Given the description of an element on the screen output the (x, y) to click on. 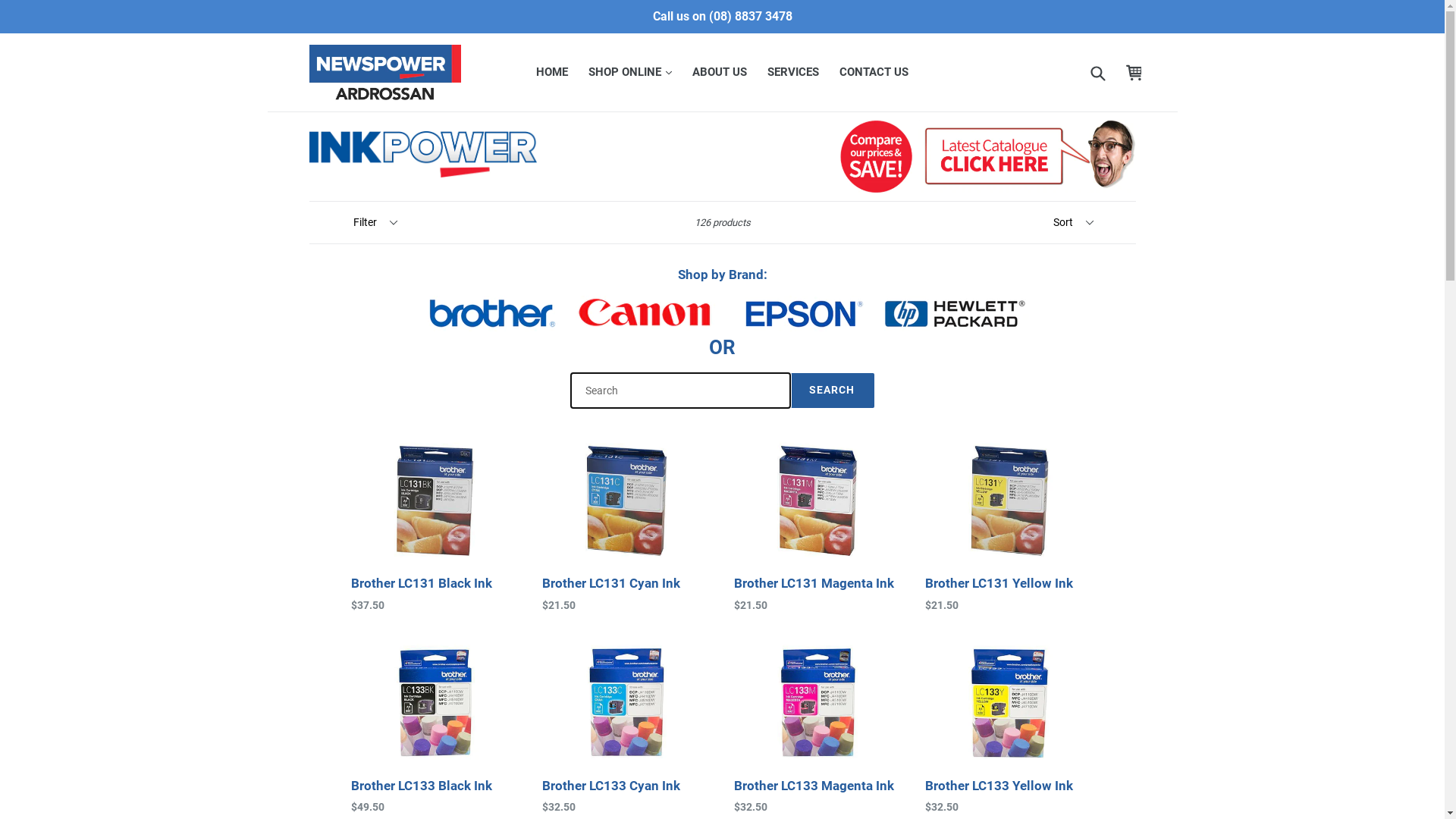
Brother LC133 Magenta Ink
Regular price
$32.50 Element type: text (818, 727)
HOME Element type: text (552, 72)
Brother LC133 Black Ink
Regular price
$49.50 Element type: text (434, 727)
Brother LC131 Yellow Ink
Regular price
$21.50 Element type: text (1009, 524)
Cart
Cart Element type: text (1133, 72)
Brother LC131 Black Ink
Regular price
$37.50 Element type: text (434, 524)
Brother LC133 Cyan Ink
Regular price
$32.50 Element type: text (626, 727)
Brother LC131 Cyan Ink
Regular price
$21.50 Element type: text (626, 524)
CONTACT US Element type: text (873, 72)
SERVICES Element type: text (793, 72)
ABOUT US Element type: text (719, 72)
Submit Element type: text (1096, 72)
Call us on (08) 8837 3478 Element type: text (722, 16)
Brother LC133 Yellow Ink
Regular price
$32.50 Element type: text (1009, 727)
SEARCH Element type: text (832, 389)
Brother LC131 Magenta Ink
Regular price
$21.50 Element type: text (818, 524)
